Given the description of an element on the screen output the (x, y) to click on. 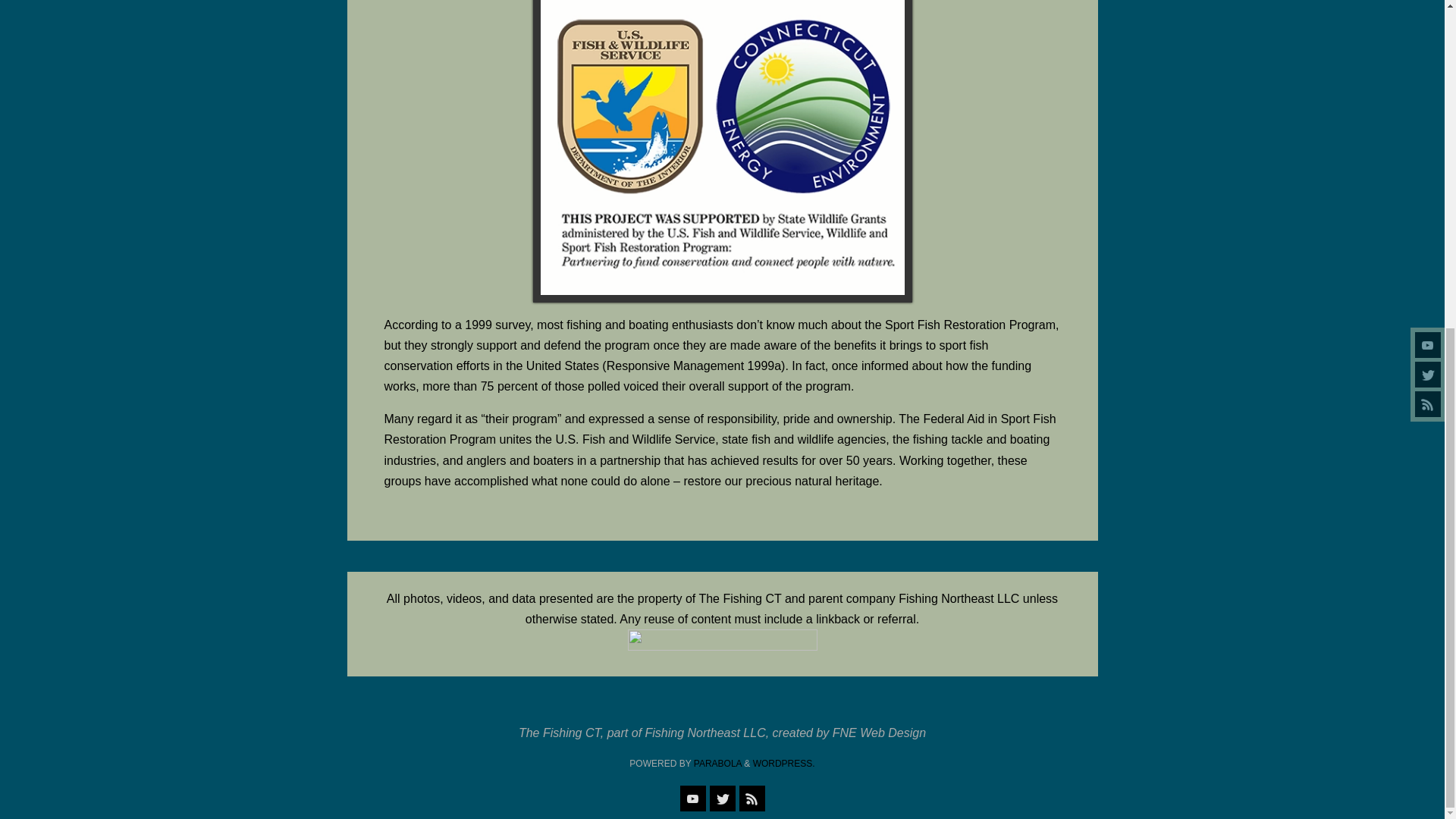
Twitter (722, 798)
Parabola Theme by Cryout Creations (717, 763)
Semantic Personal Publishing Platform (783, 763)
RSS (751, 798)
YouTube (691, 798)
